Given the description of an element on the screen output the (x, y) to click on. 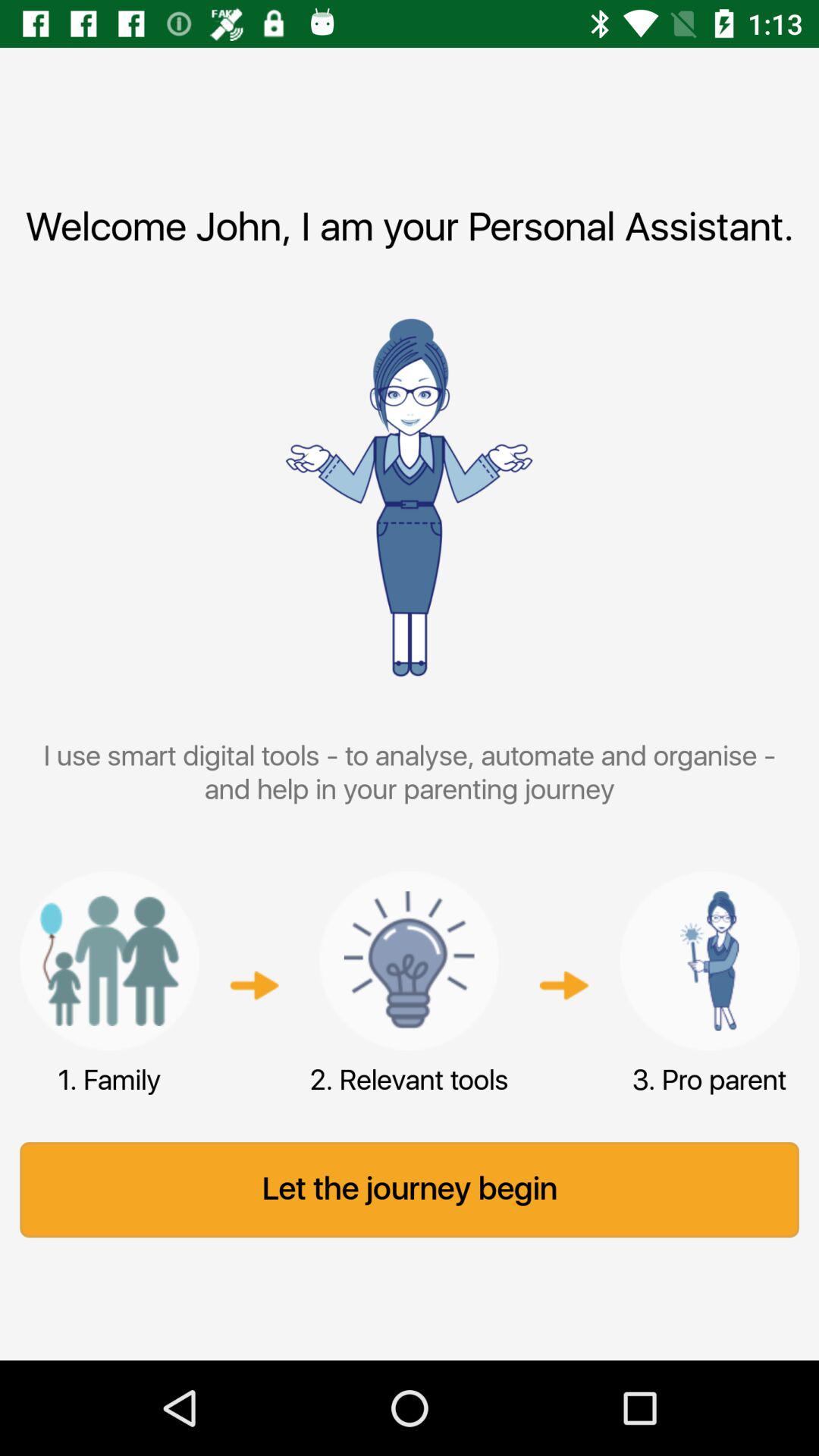
flip to let the journey icon (409, 1189)
